Given the description of an element on the screen output the (x, y) to click on. 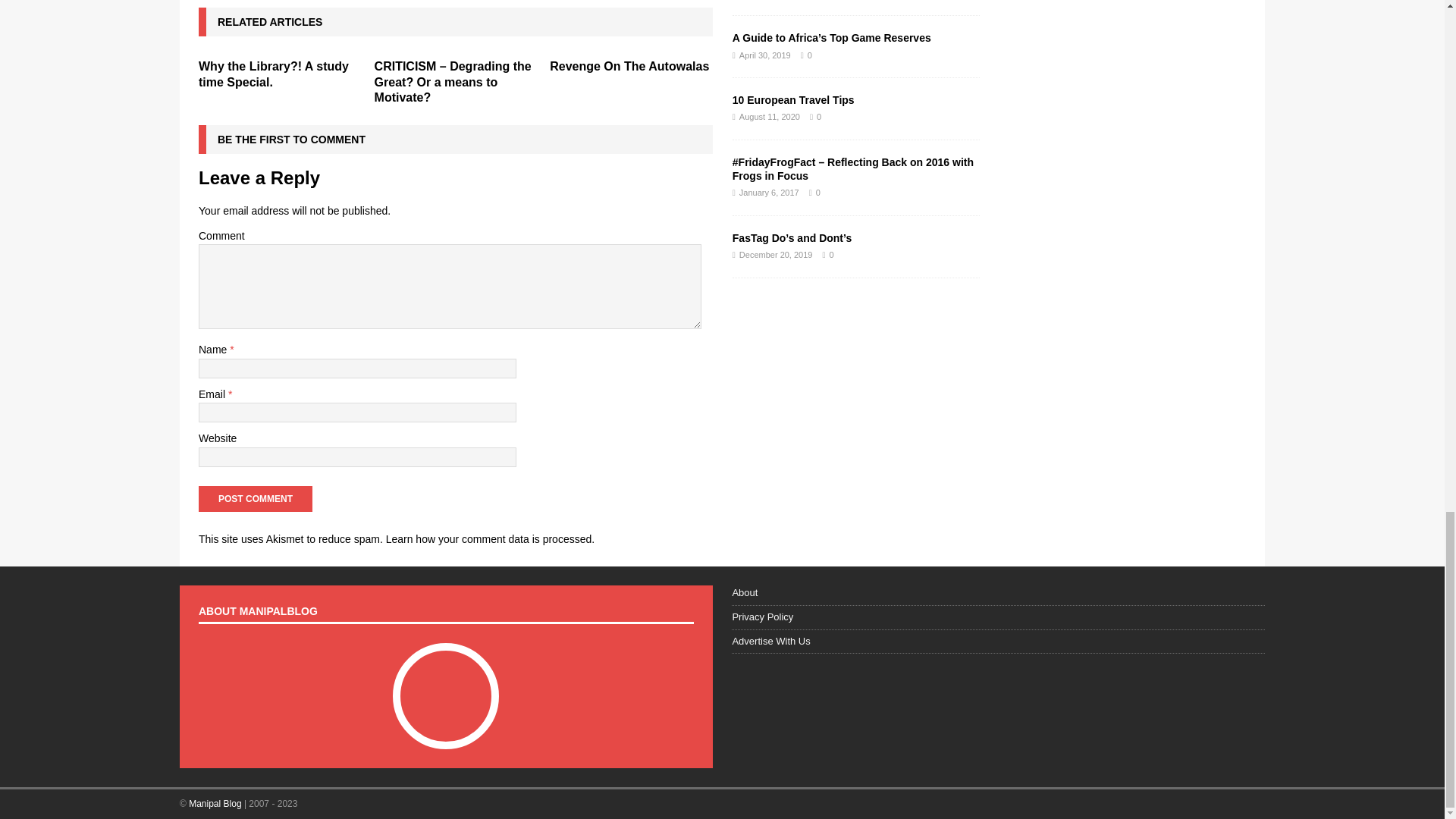
Post Comment (255, 498)
